Given the description of an element on the screen output the (x, y) to click on. 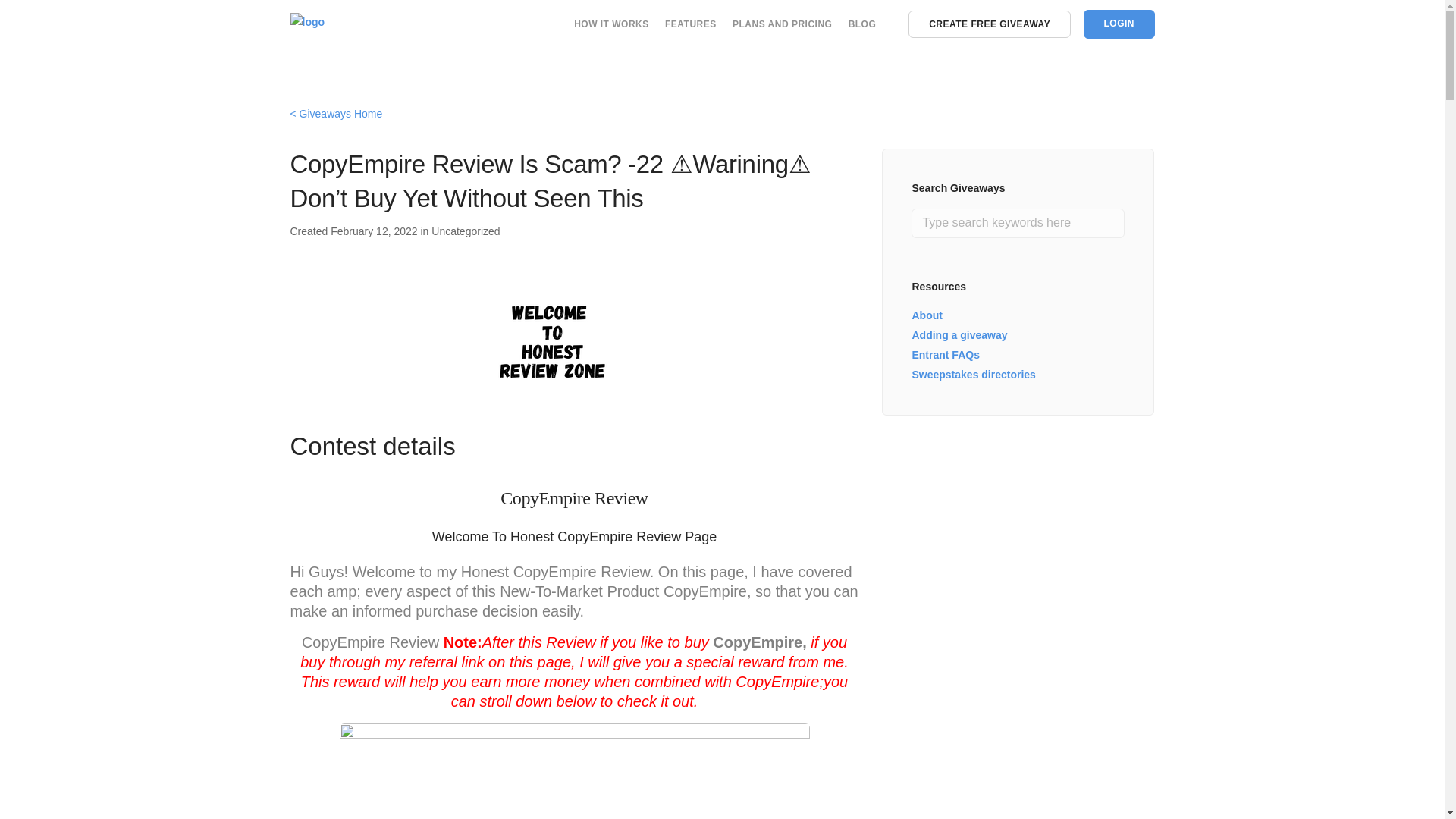
Sweepstakes directories (973, 374)
PLANS AND PRICING (781, 23)
BLOG (862, 23)
Entrant FAQs (944, 354)
FEATURES (690, 23)
Adding a giveaway (959, 335)
About (926, 315)
CREATE FREE GIVEAWAY (989, 23)
HOW IT WORKS (611, 23)
LOGIN (1118, 23)
